Given the description of an element on the screen output the (x, y) to click on. 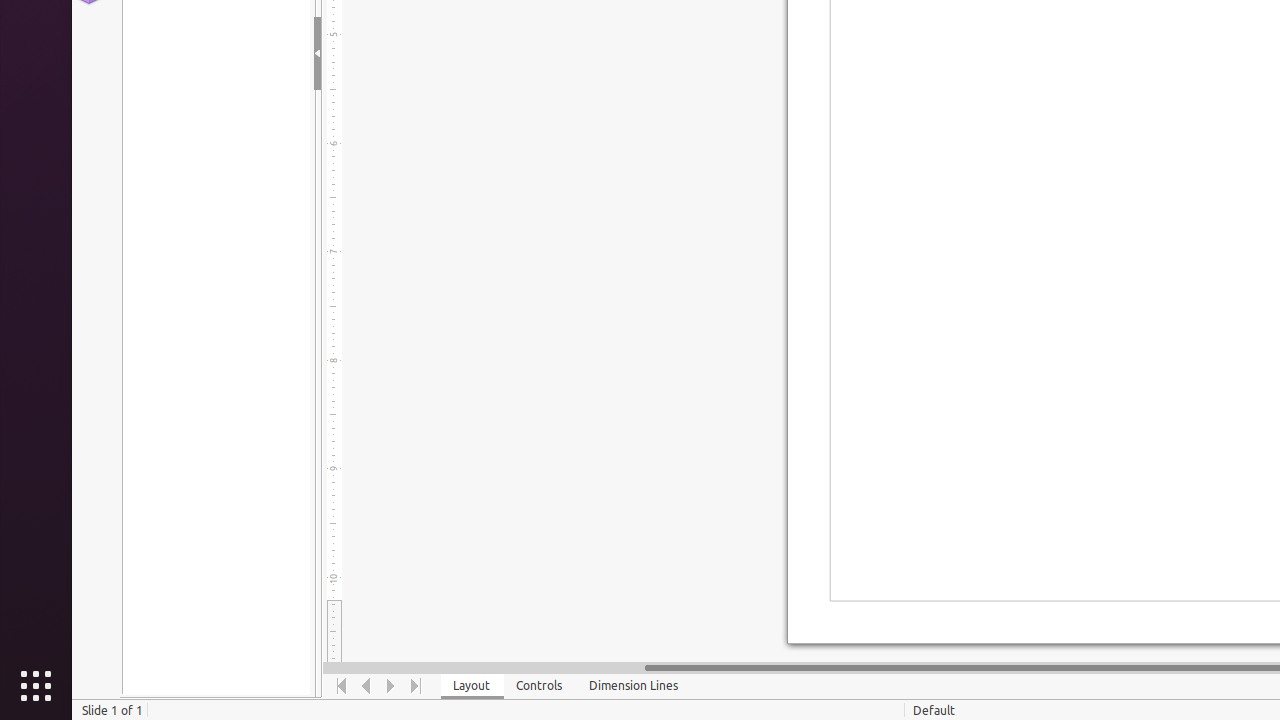
Move Left Element type: push-button (366, 686)
Dimension Lines Element type: page-tab (634, 686)
Show Applications Element type: toggle-button (36, 686)
Controls Element type: page-tab (540, 686)
Layout Element type: page-tab (472, 686)
